Given the description of an element on the screen output the (x, y) to click on. 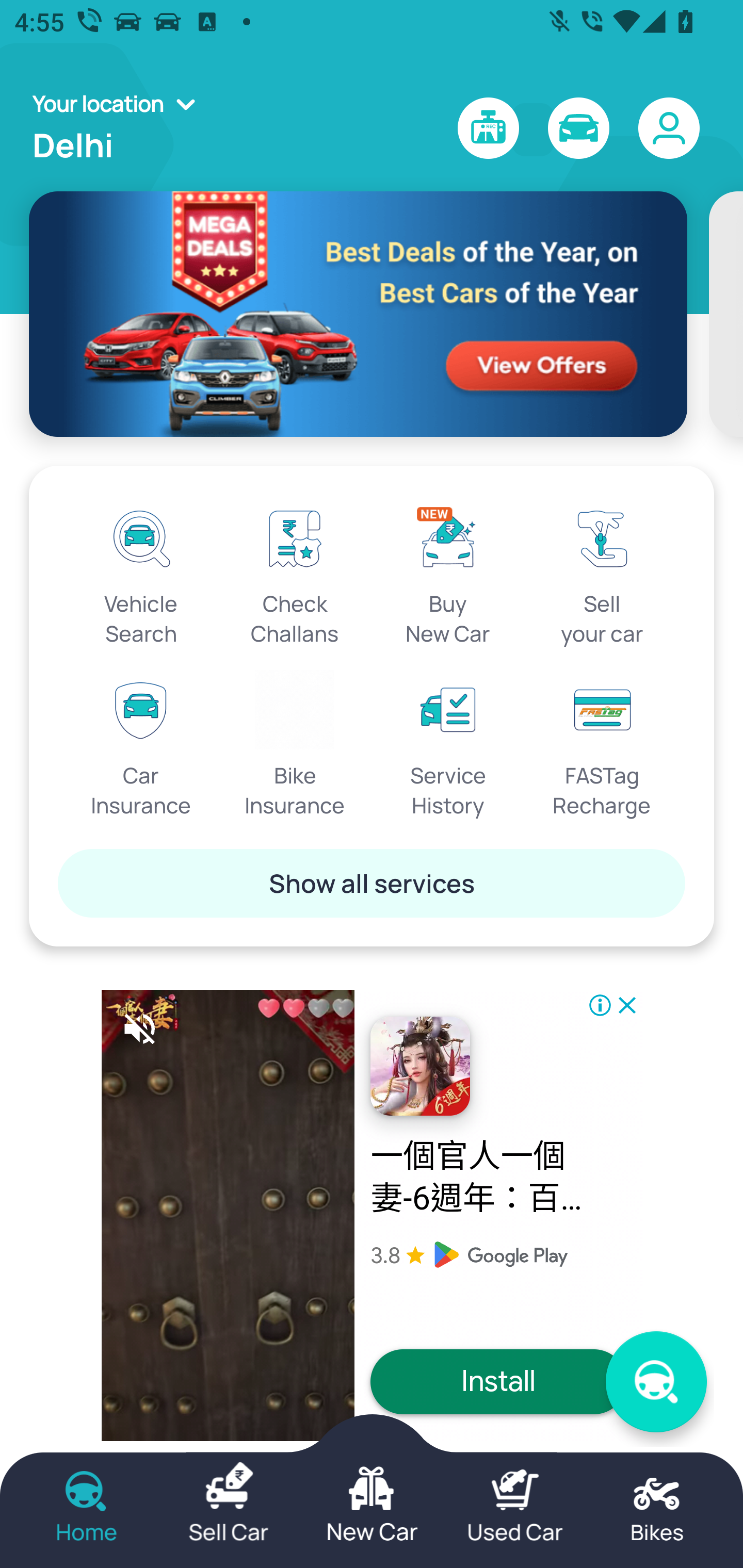
Your location Delhi (119, 128)
Vehicle
Search (141, 572)
Check
Challans (294, 572)
Buy
New Car (447, 572)
Sell
your car (601, 572)
Car
Insurance (141, 744)
Bike
Insurance (294, 744)
Service
History (447, 744)
FASTag Recharge (601, 744)
Show all services (371, 882)
